Given the description of an element on the screen output the (x, y) to click on. 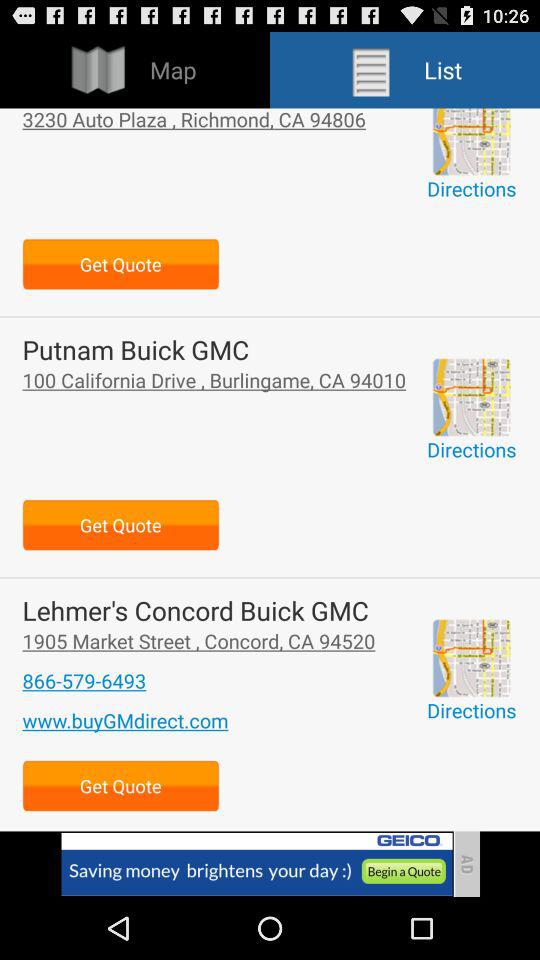
advertisement (471, 658)
